Given the description of an element on the screen output the (x, y) to click on. 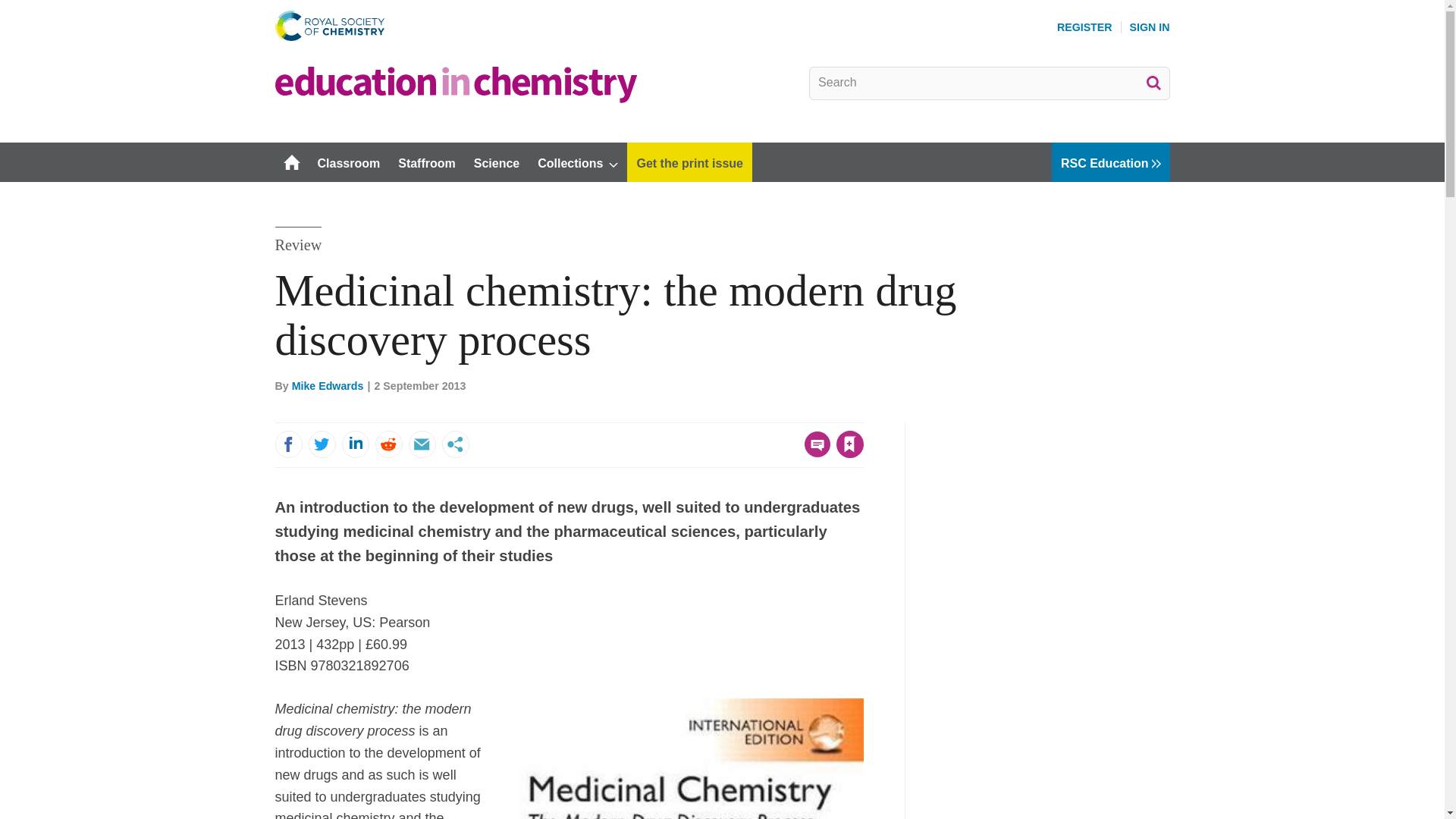
Share this on Facebook (288, 443)
Share this on Reddit (387, 443)
Collections (577, 161)
SIGN IN (1149, 27)
Share this by email (421, 443)
No comments (812, 453)
SEARCH (1152, 82)
More share options (454, 443)
REGISTER (1084, 27)
Share this on Twitter (320, 443)
Science (496, 161)
Share this on LinkedIn (354, 443)
Staffroom (426, 161)
Classroom (347, 161)
